Given the description of an element on the screen output the (x, y) to click on. 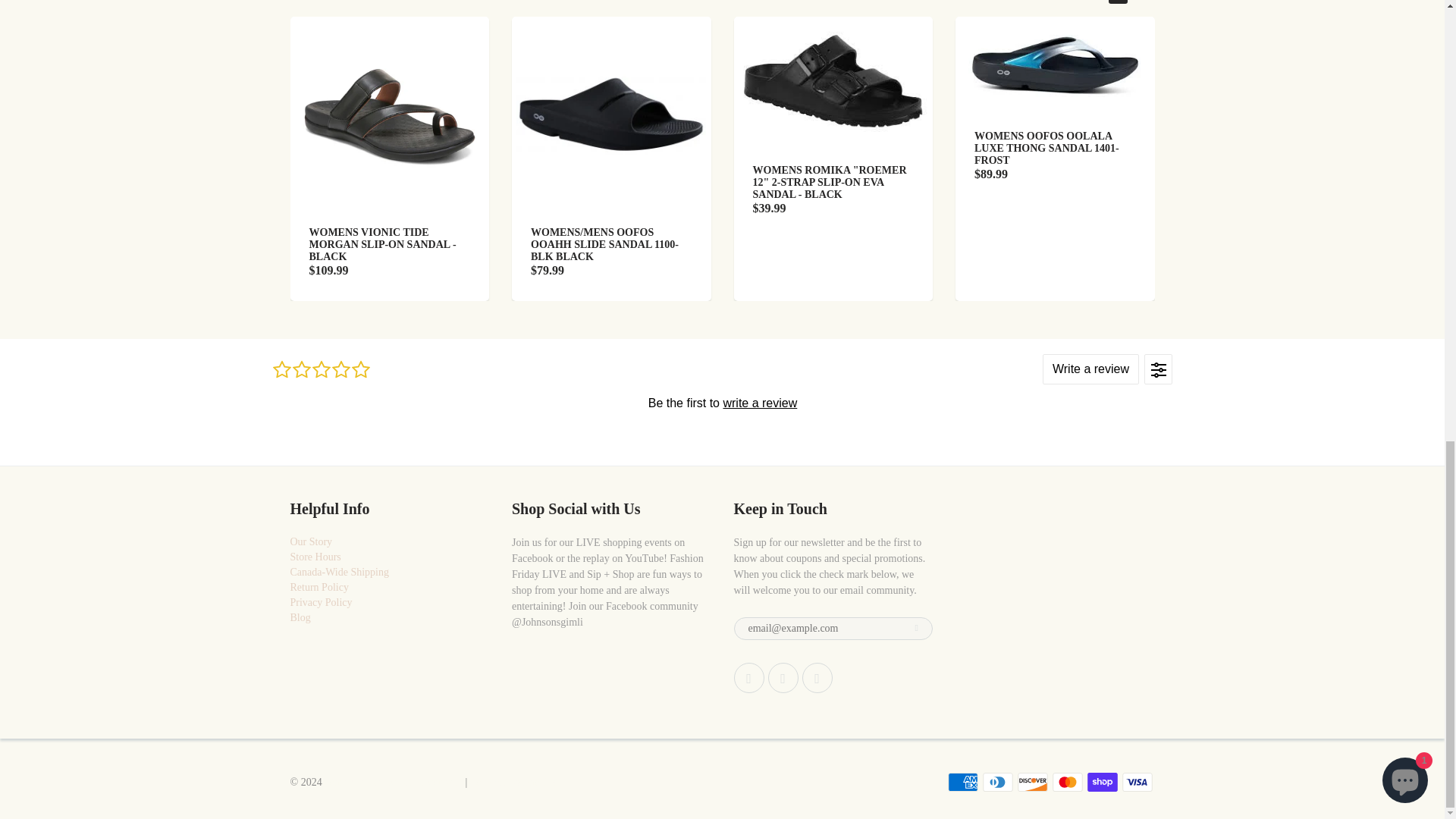
Instagram (782, 677)
Product reviews widget (721, 402)
Visa (1137, 782)
American Express (962, 782)
YouTube (817, 677)
Shop Pay (1102, 782)
Mastercard (1067, 782)
Diners Club (997, 782)
Discover (1032, 782)
Facebook (748, 677)
